Given the description of an element on the screen output the (x, y) to click on. 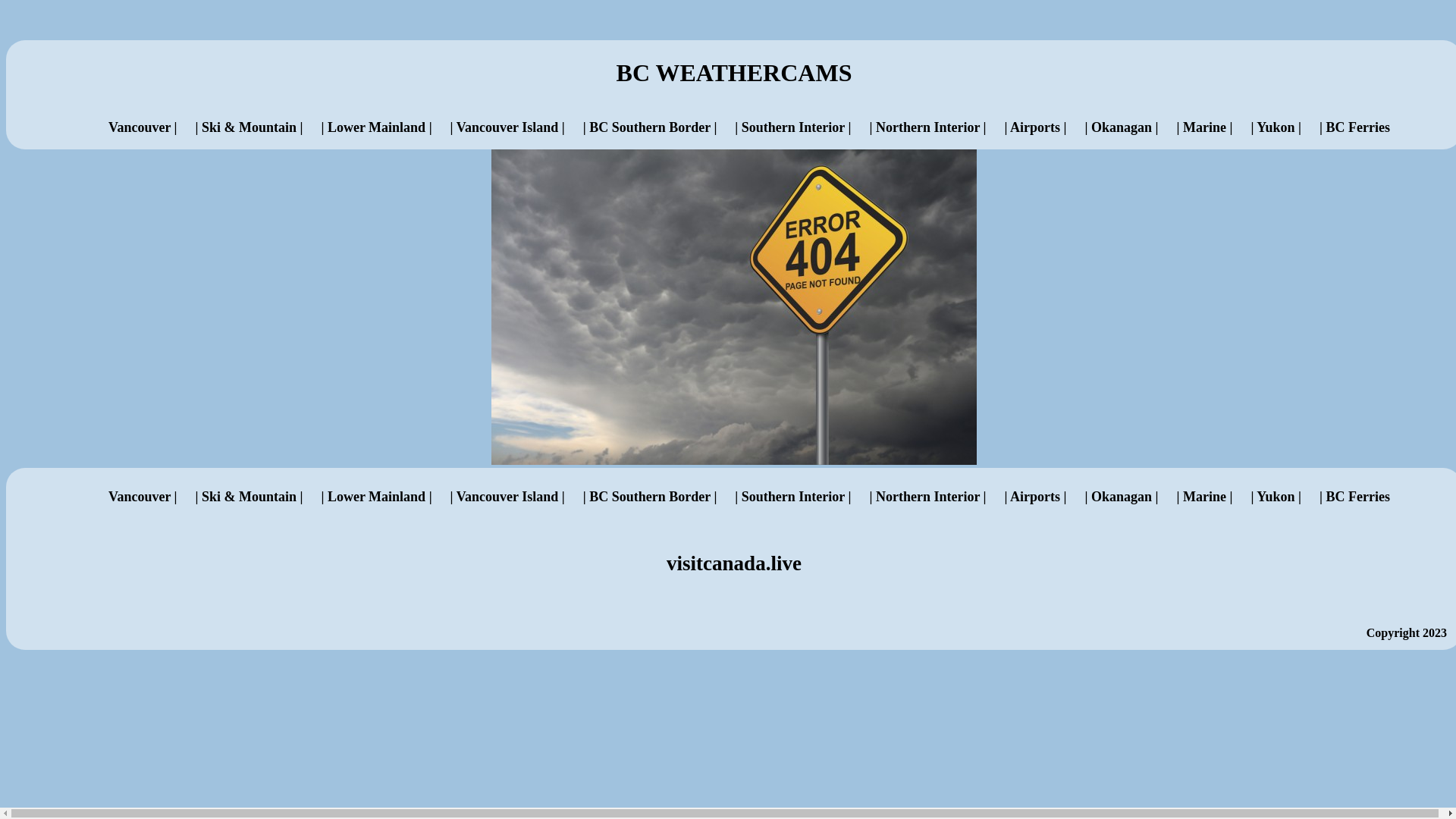
| Okanagan | Element type: text (1120, 127)
| Okanagan | Element type: text (1120, 496)
| Airports | Element type: text (1035, 127)
| Ski & Mountain | Element type: text (249, 496)
| BC Southern Border | Element type: text (649, 496)
Vancouver | Element type: text (142, 127)
| Lower Mainland | Element type: text (376, 127)
| BC Ferries Element type: text (1354, 496)
| Marine | Element type: text (1203, 496)
| Lower Mainland | Element type: text (376, 496)
| Marine | Element type: text (1203, 127)
| Southern Interior | Element type: text (792, 127)
| Vancouver Island | Element type: text (507, 496)
Vancouver | Element type: text (142, 496)
| BC Southern Border | Element type: text (649, 127)
| Airports | Element type: text (1035, 496)
| BC Ferries Element type: text (1354, 127)
| Vancouver Island | Element type: text (507, 127)
| Northern Interior | Element type: text (927, 496)
| Ski & Mountain | Element type: text (249, 127)
| Yukon | Element type: text (1275, 496)
| Southern Interior | Element type: text (792, 496)
| Northern Interior | Element type: text (927, 127)
| Yukon | Element type: text (1275, 127)
